Given the description of an element on the screen output the (x, y) to click on. 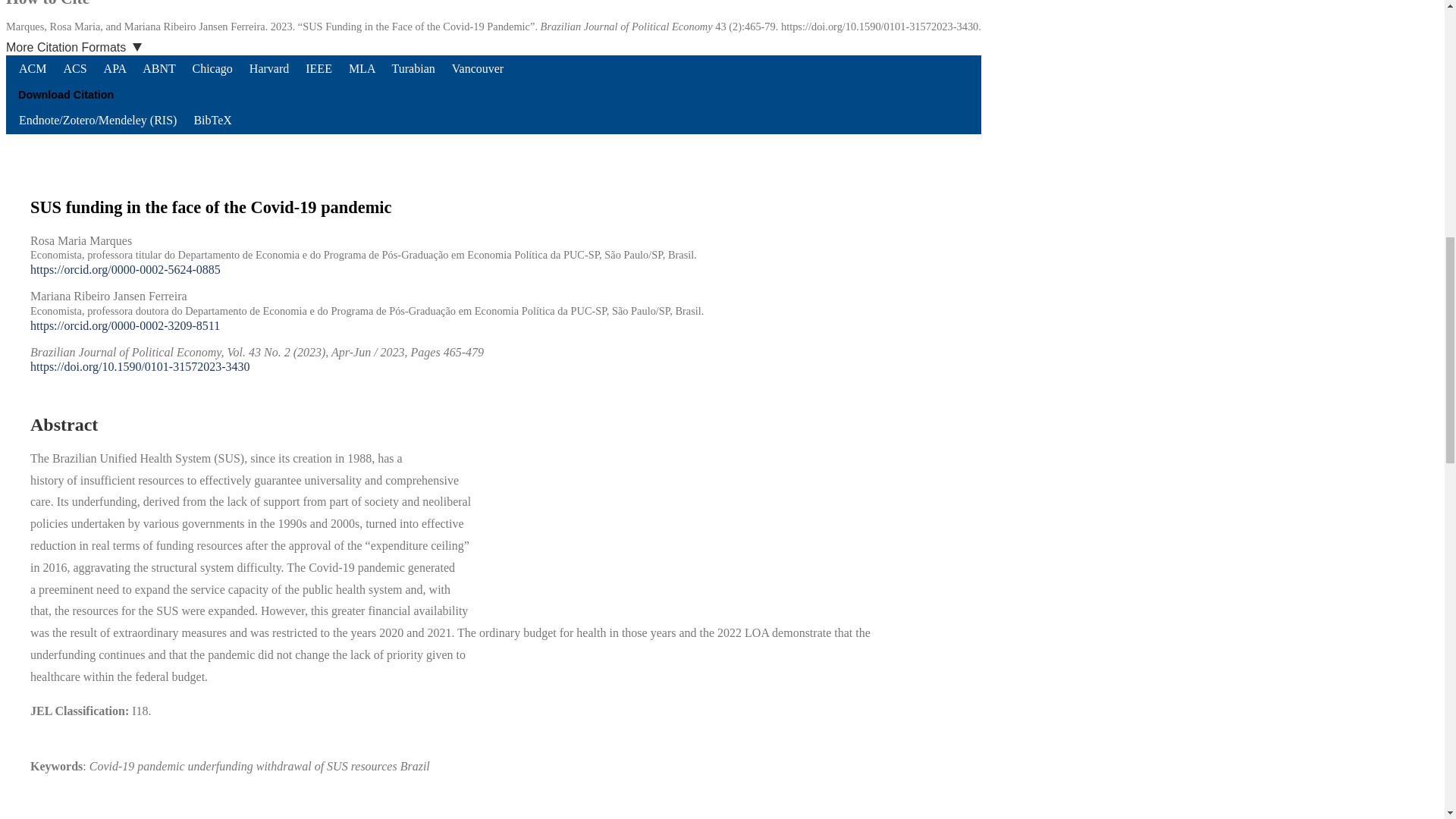
MLA (363, 68)
ACM (33, 68)
APA (116, 68)
Harvard (270, 68)
More Citation Formats (79, 47)
Chicago (212, 68)
ABNT (159, 68)
ACS (76, 68)
IEEE (320, 68)
Turabian (415, 68)
